Given the description of an element on the screen output the (x, y) to click on. 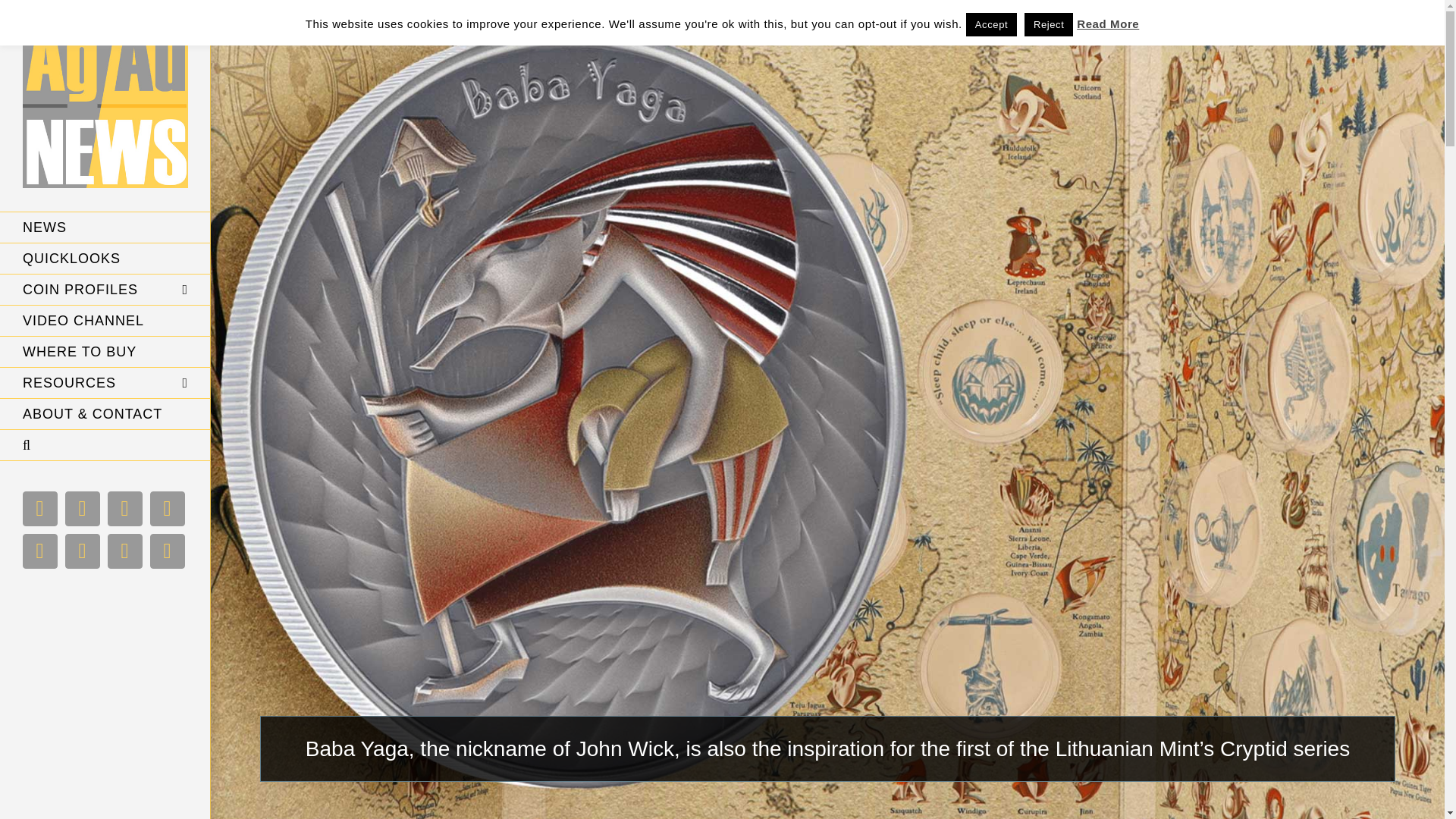
COIN PROFILES (105, 289)
RESOURCES (105, 382)
WHERE TO BUY (105, 351)
Search (105, 445)
NEWS (105, 227)
VIDEO CHANNEL (105, 320)
QUICKLOOKS (105, 258)
